Given the description of an element on the screen output the (x, y) to click on. 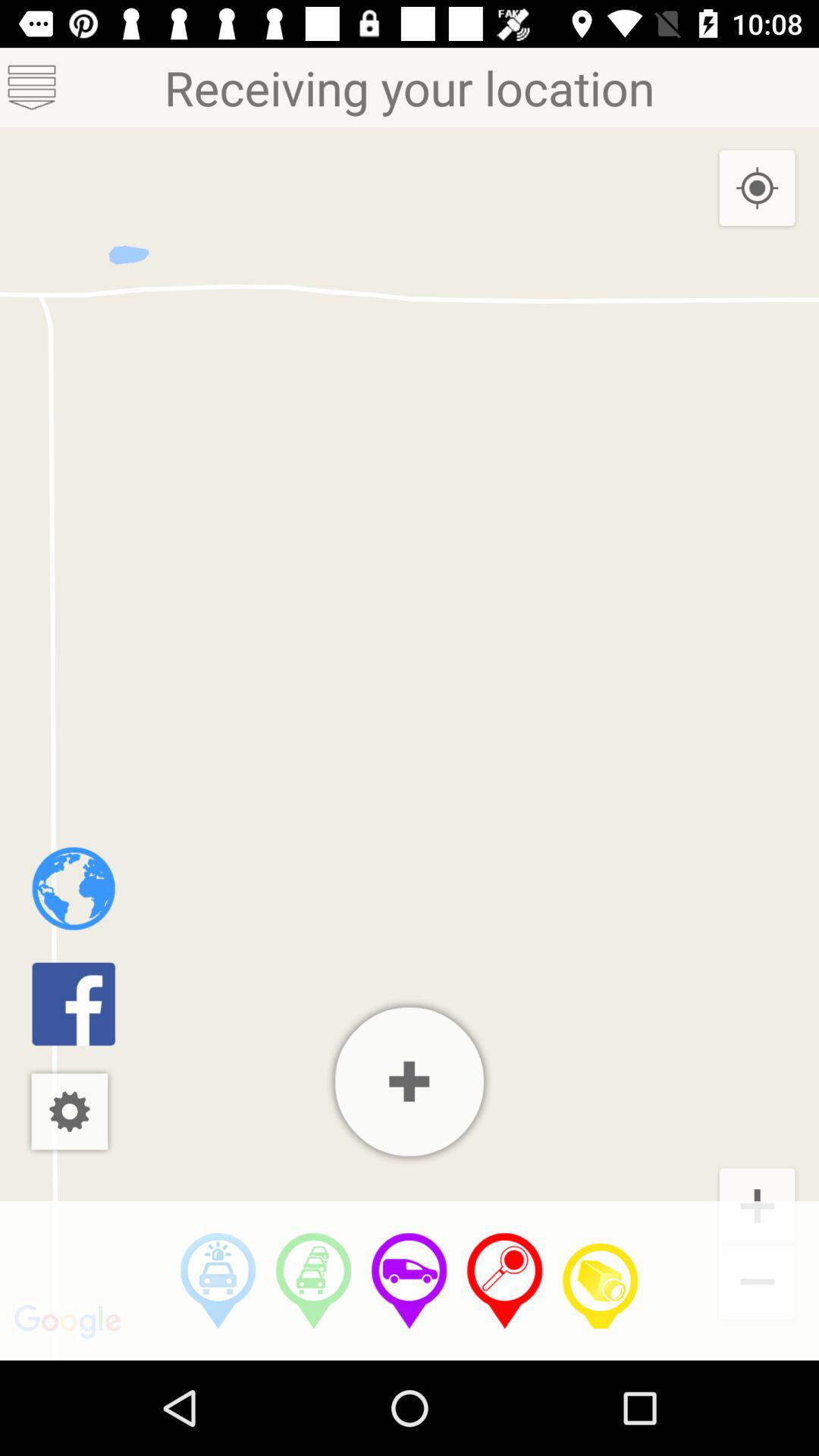
go to side menu option (31, 87)
